Given the description of an element on the screen output the (x, y) to click on. 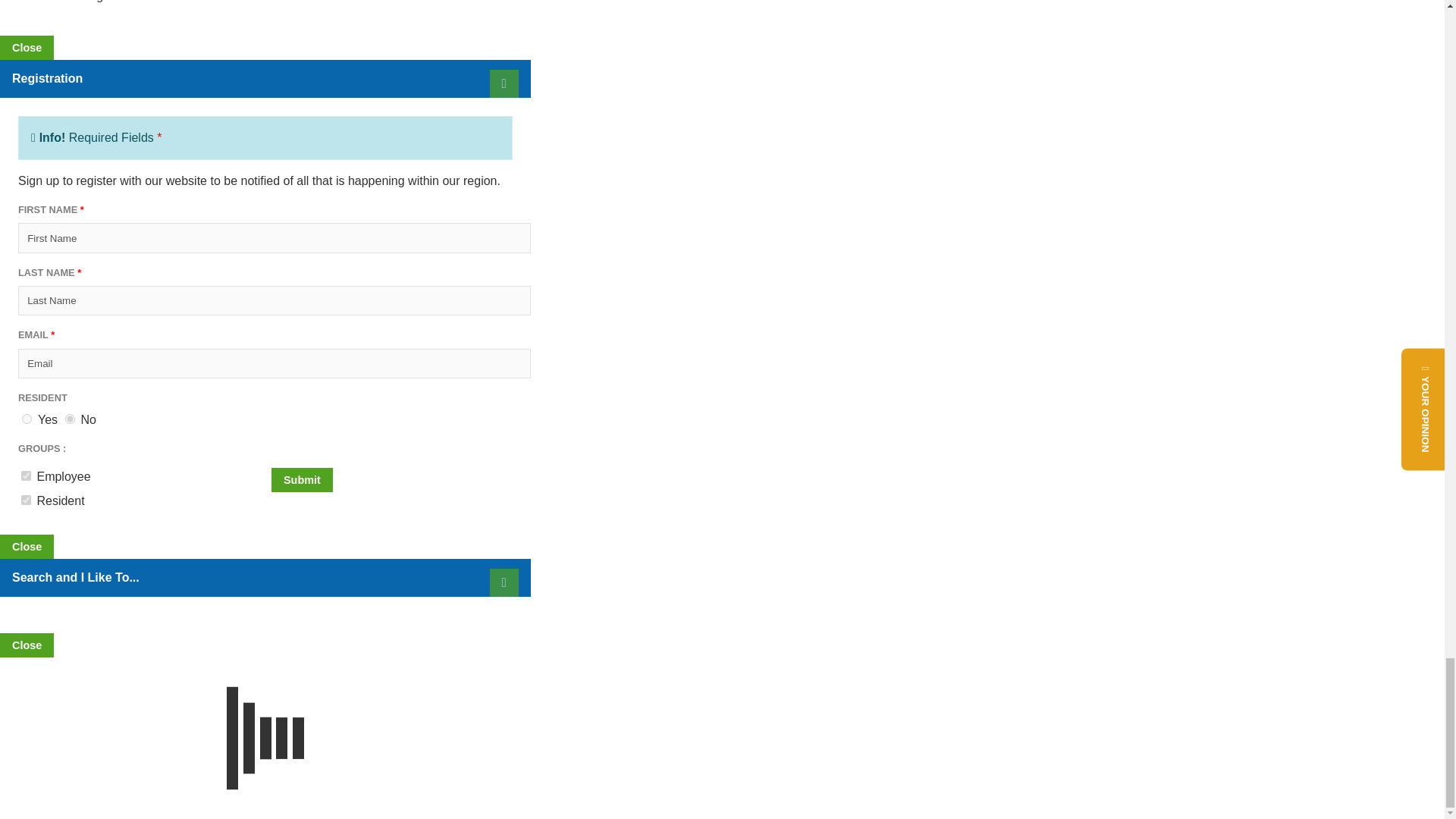
63d8365d-db03-4970-aa66-100125936eab (25, 500)
Submit (301, 479)
cbf6428f-d900-4172-bf71-ec7ae6f27543 (25, 475)
True (26, 419)
False (70, 419)
